Given the description of an element on the screen output the (x, y) to click on. 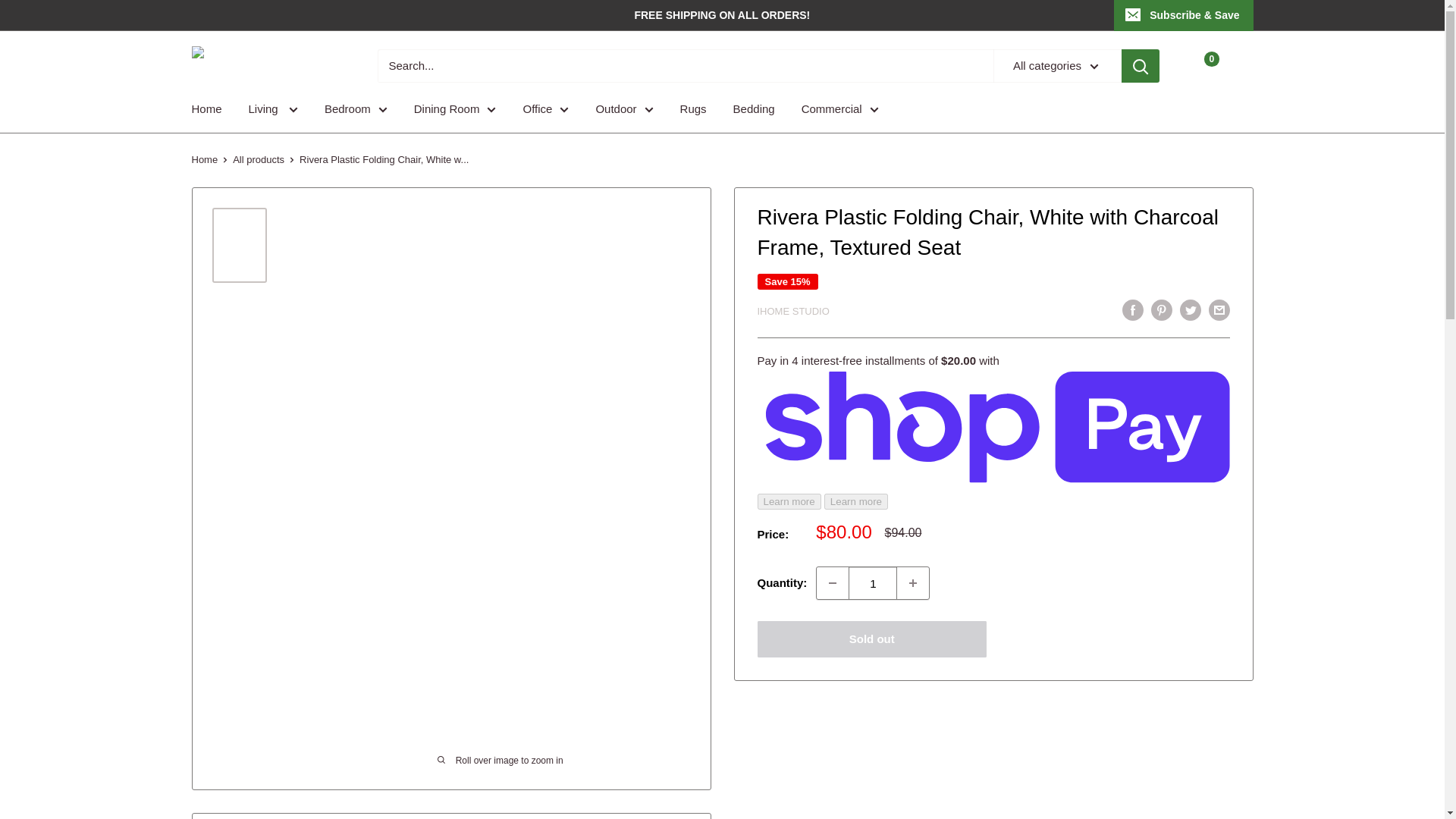
Increase quantity by 1 (912, 582)
Decrease quantity by 1 (832, 582)
1 (872, 582)
